Given the description of an element on the screen output the (x, y) to click on. 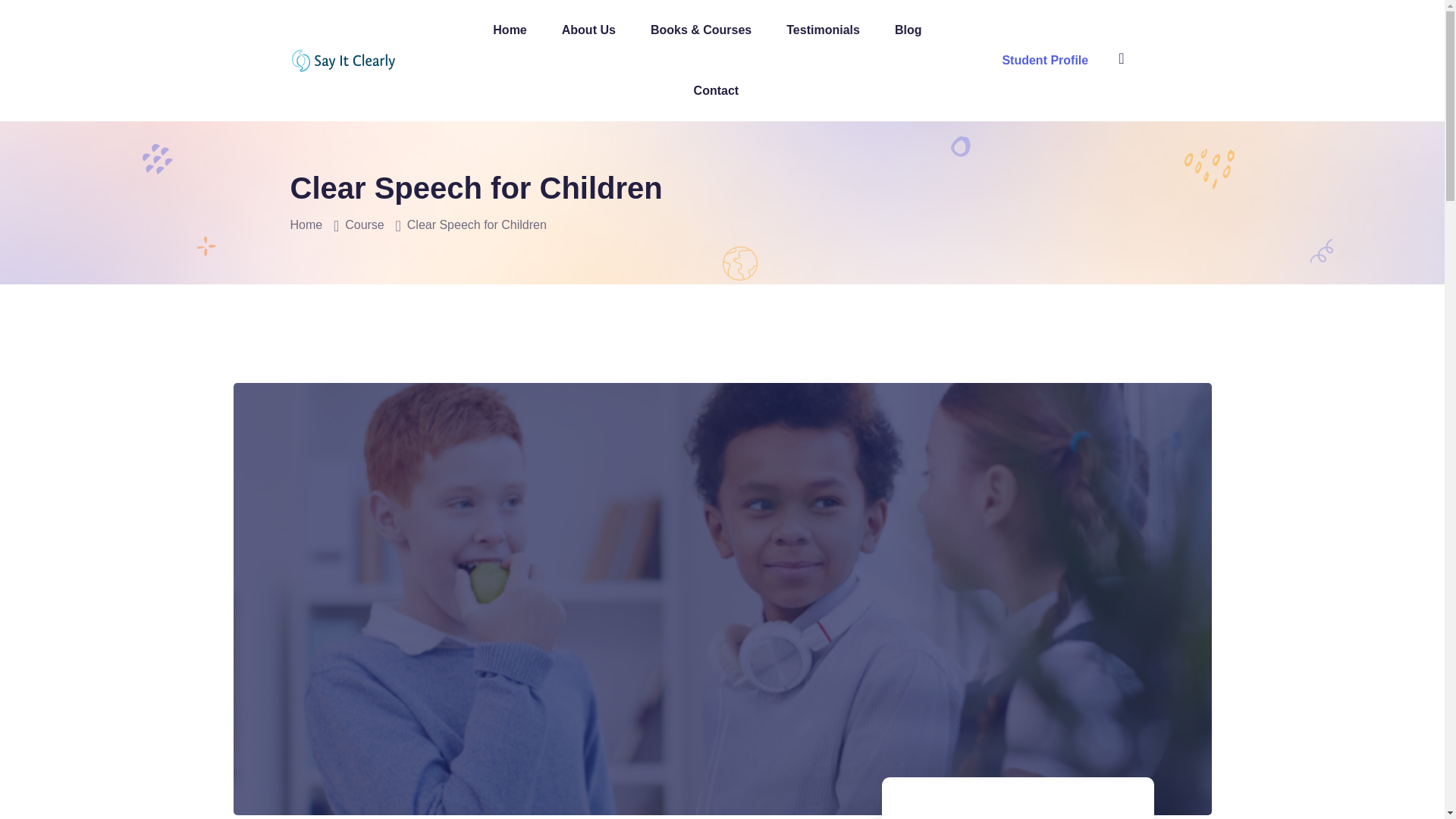
Student Profile (1044, 60)
Home (305, 224)
Contact (717, 90)
About Us (588, 30)
Blog (908, 30)
Testimonials (822, 30)
